Given the description of an element on the screen output the (x, y) to click on. 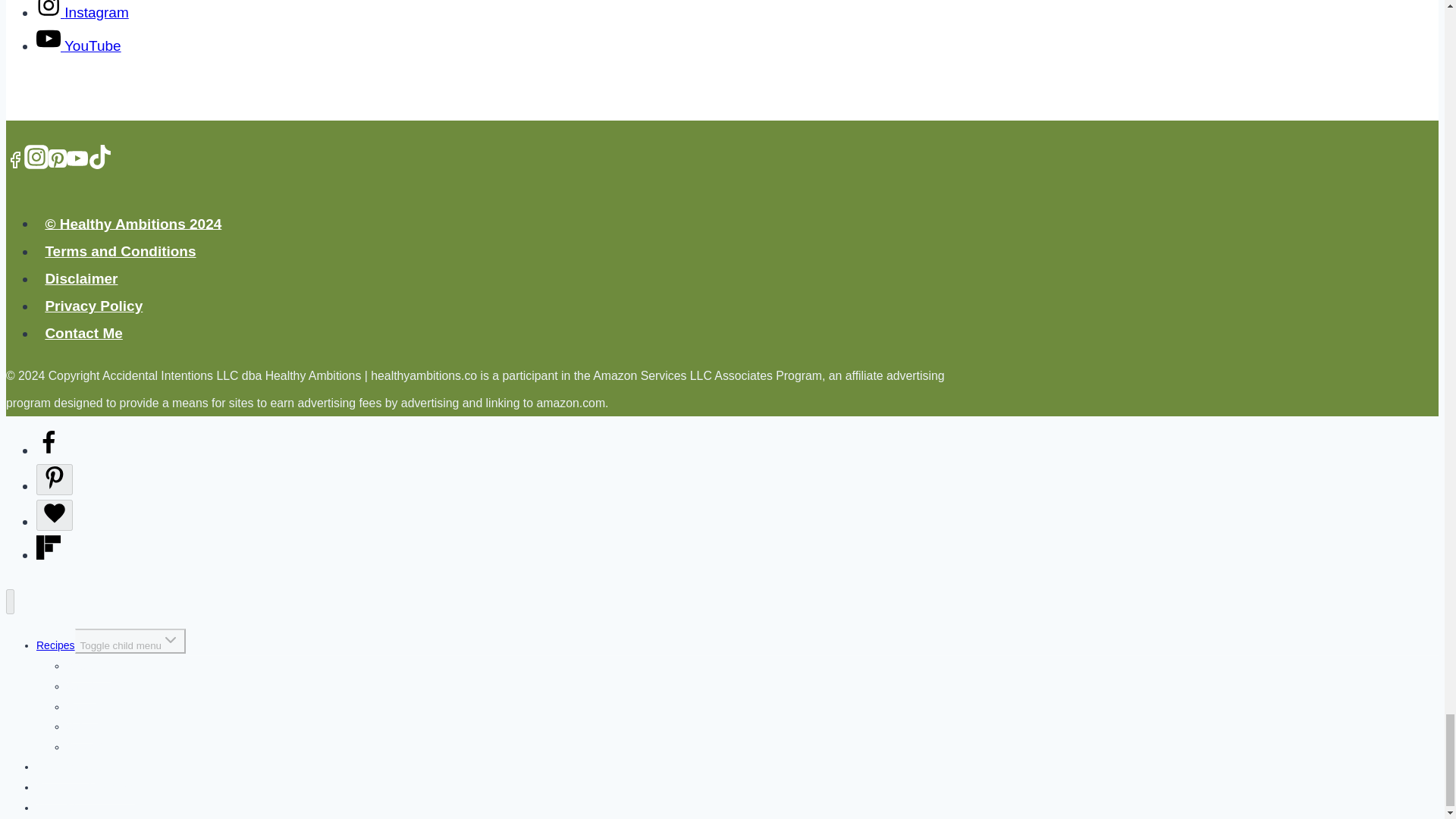
Instagram (36, 156)
Shift-click to edit this element. (494, 388)
Follow on YouTube (78, 45)
Facebook (14, 159)
Follow on Instagram (82, 12)
